Given the description of an element on the screen output the (x, y) to click on. 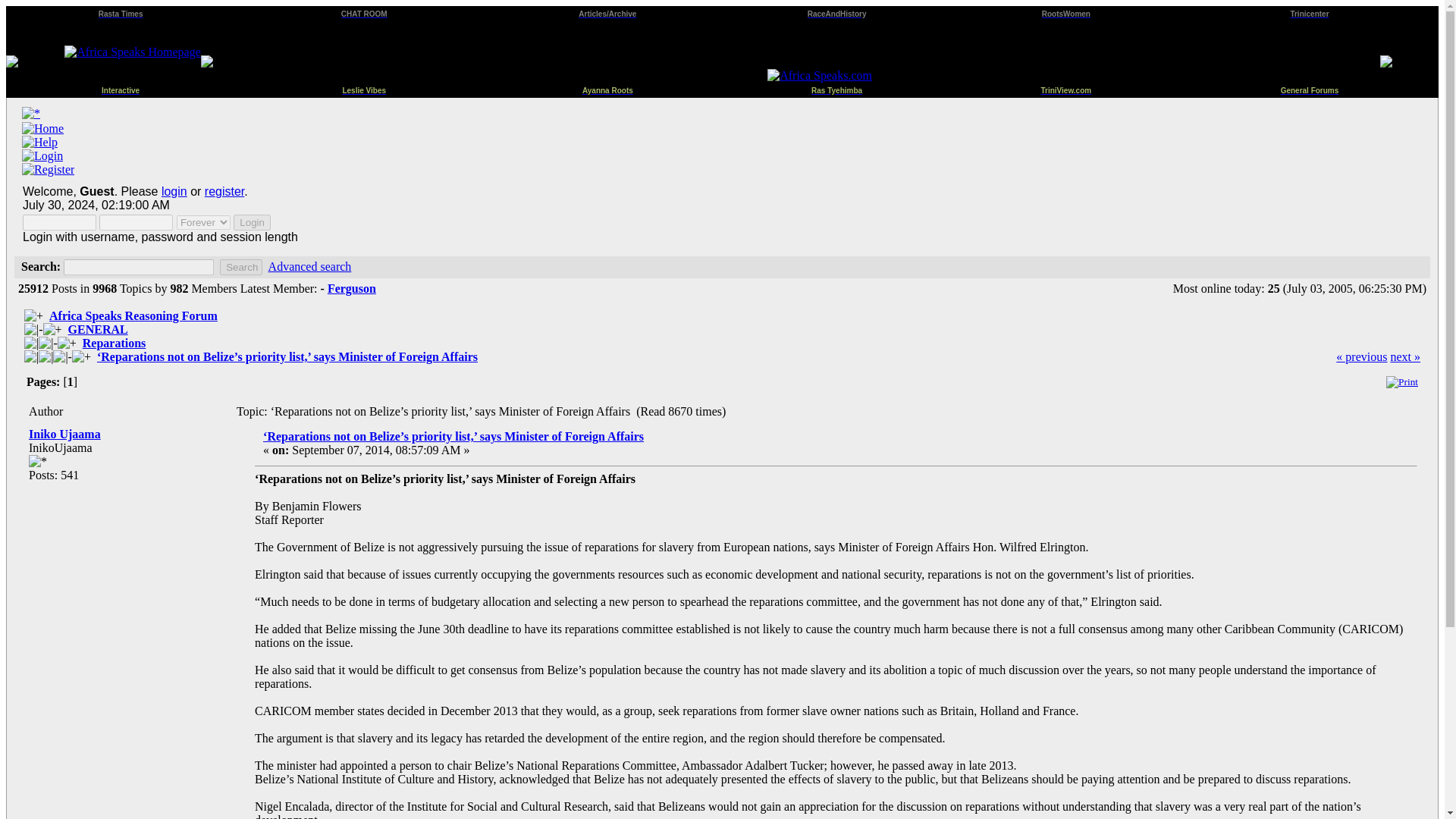
Shrink or expand the header. (30, 113)
Trinicenter (1308, 11)
Ferguson (351, 287)
Iniko Ujaama (64, 433)
General Forums (1310, 88)
Ayanna Roots (607, 88)
Advanced search (309, 266)
RaceAndHistory (837, 11)
Search (240, 267)
CHAT ROOM (363, 11)
Interactive (120, 88)
TriniView.com (1065, 88)
Africa Speaks Reasoning Forum (132, 315)
GENERAL (98, 328)
register (224, 191)
